Given the description of an element on the screen output the (x, y) to click on. 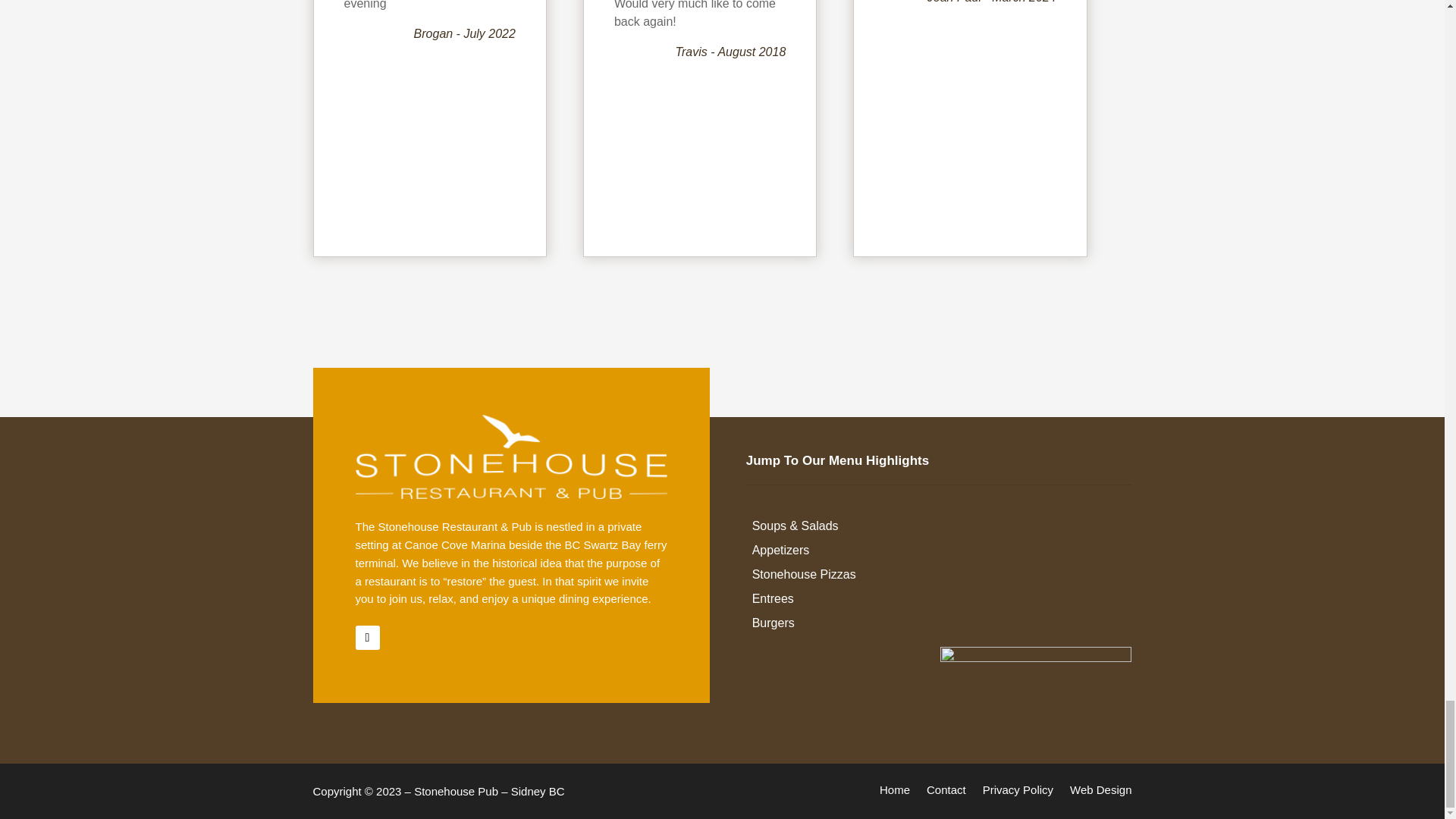
stonehouse-accessibility (1035, 674)
Stonehouse Pizzas (942, 577)
Follow on Facebook (366, 637)
Entrees (942, 601)
Home (894, 792)
Web Designer In Sidney (1100, 792)
Web Design (1100, 792)
Privacy Policy (1017, 792)
Burgers (942, 626)
British Columbia (556, 790)
Contact (946, 792)
Appetizers (942, 553)
